Given the description of an element on the screen output the (x, y) to click on. 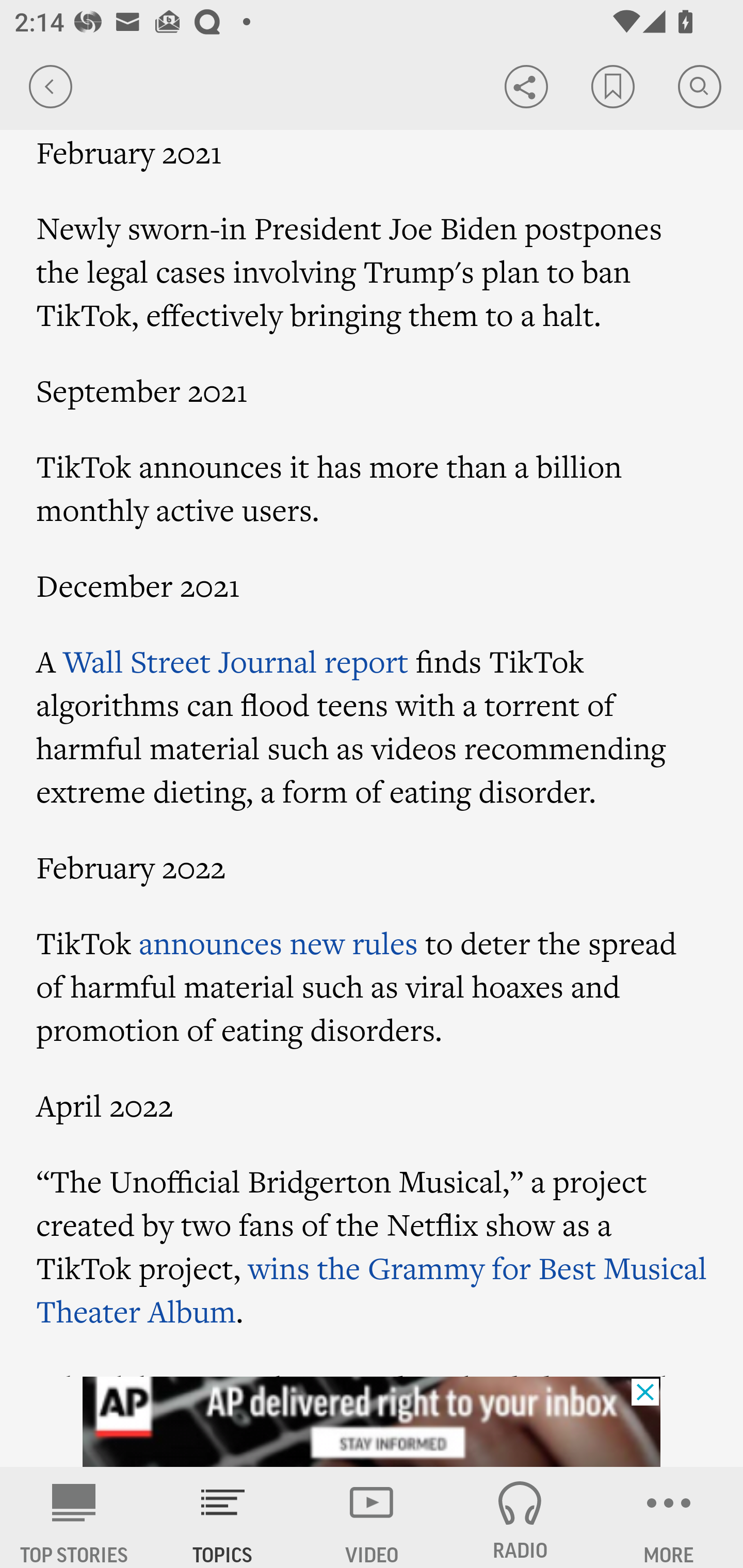
Wall Street Journal report (235, 660)
announces new rules (278, 941)
wins the Grammy for Best Musical Theater Album (372, 1288)
AP News TOP STORIES (74, 1517)
TOPICS (222, 1517)
VIDEO (371, 1517)
RADIO (519, 1517)
MORE (668, 1517)
